Given the description of an element on the screen output the (x, y) to click on. 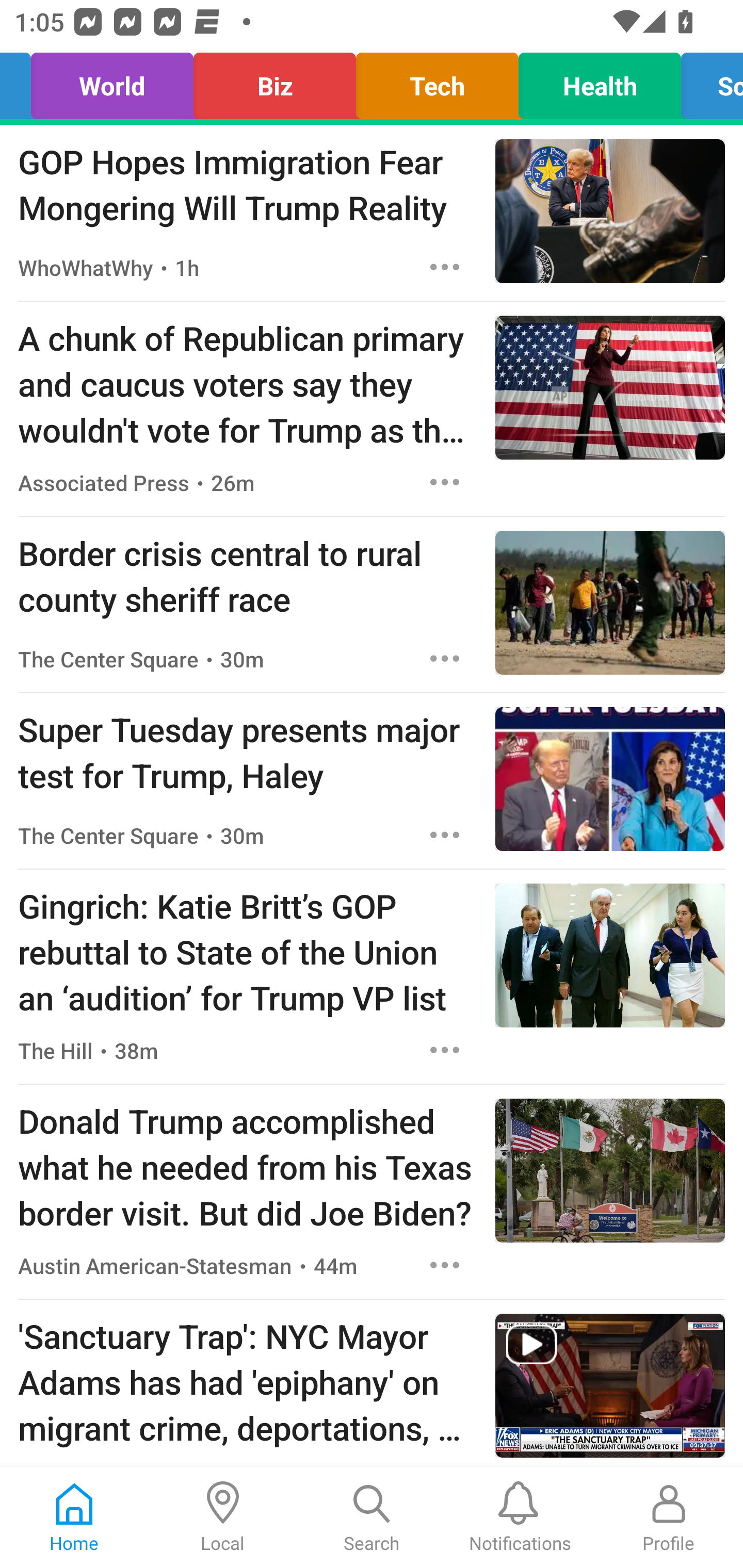
World (112, 81)
Biz (274, 81)
Tech (437, 81)
Health (599, 81)
Options (444, 267)
Options (444, 481)
Options (444, 658)
Options (444, 834)
Options (444, 1050)
Options (444, 1265)
Local (222, 1517)
Search (371, 1517)
Notifications (519, 1517)
Profile (668, 1517)
